Given the description of an element on the screen output the (x, y) to click on. 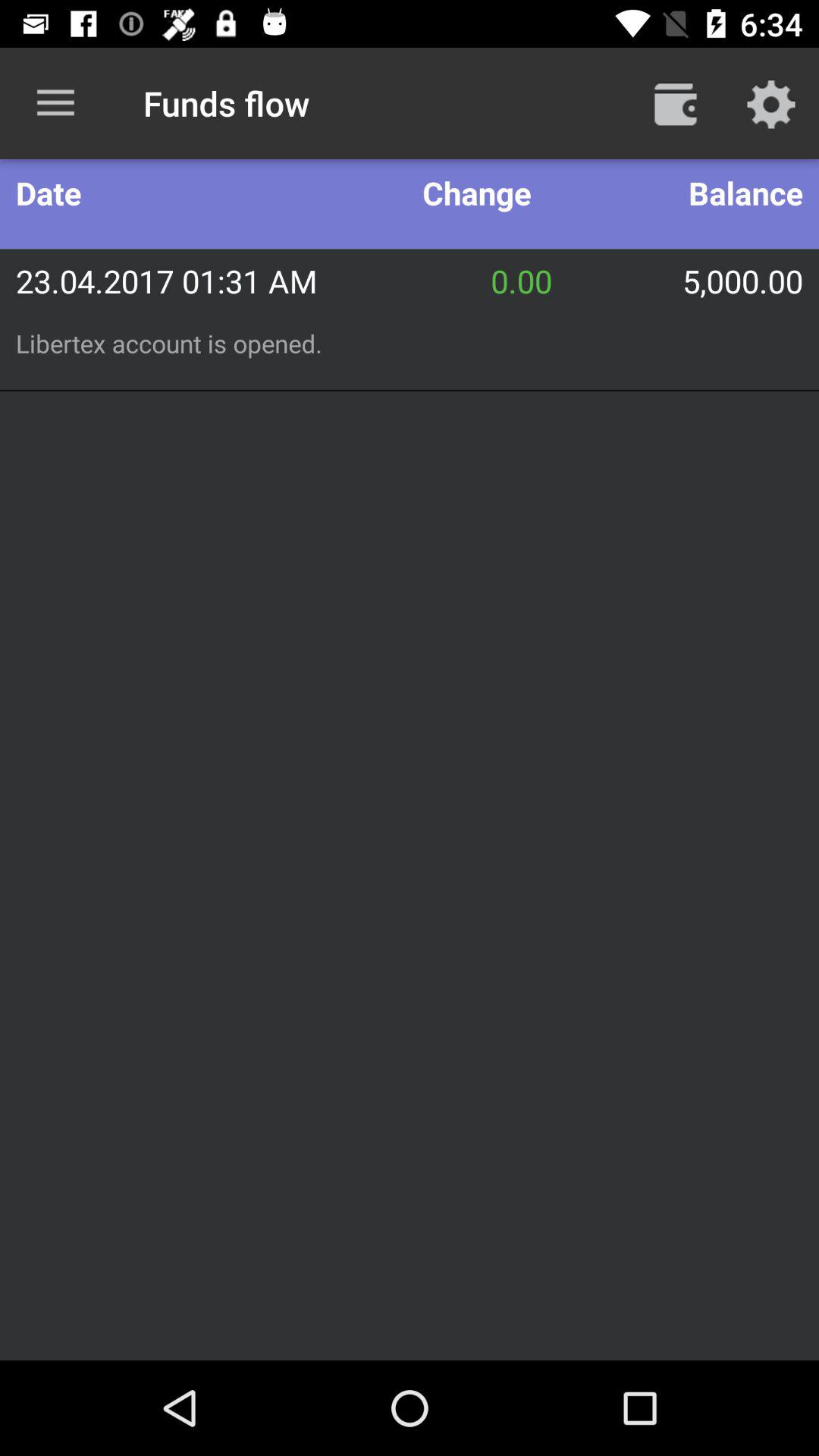
turn off icon above the balance icon (675, 103)
